Given the description of an element on the screen output the (x, y) to click on. 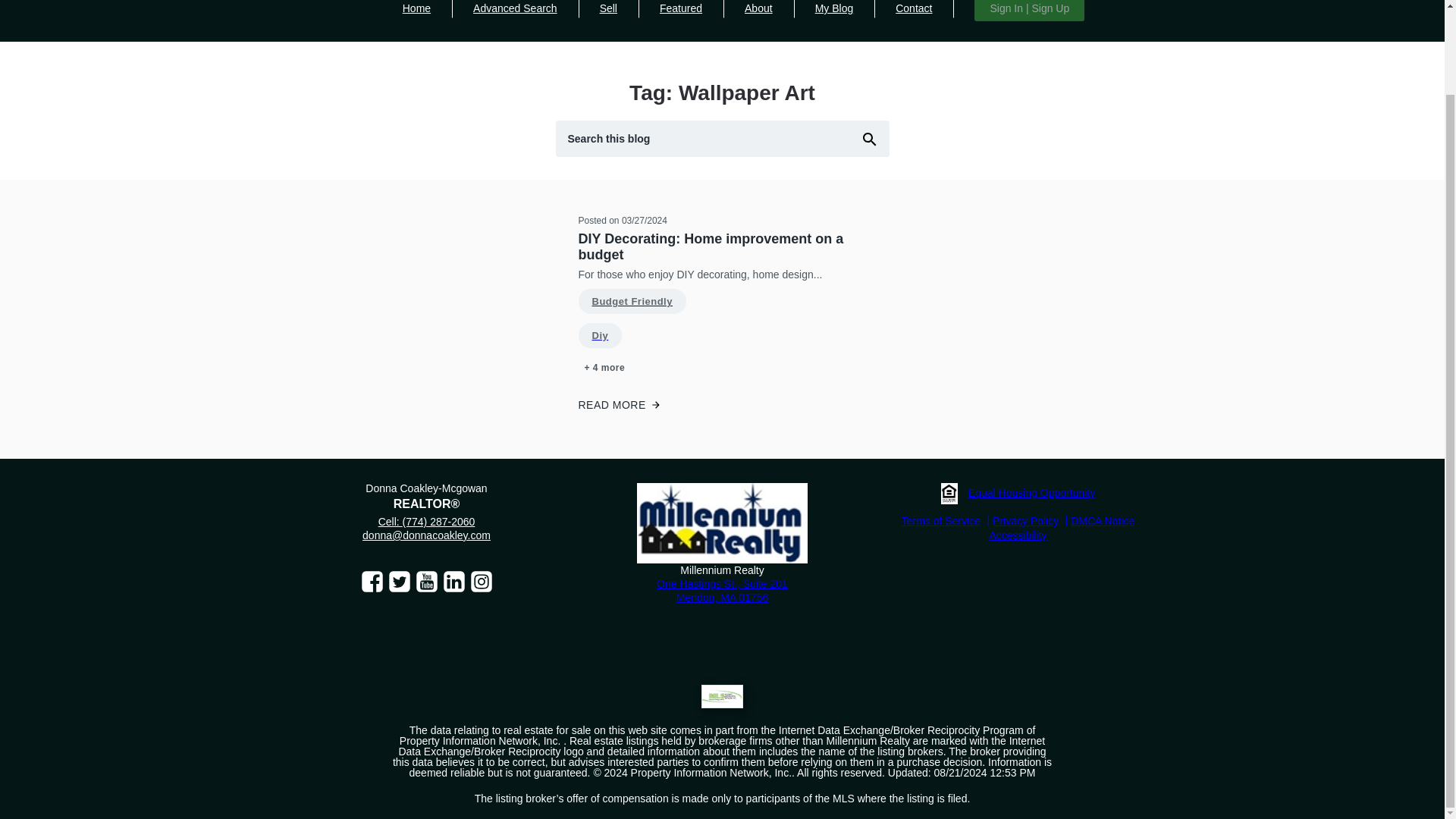
READ MORE (722, 404)
Millennium Realty (722, 523)
Sell (608, 17)
Terms of Service (946, 521)
My Blog (834, 17)
Mendon, MA 01756 (722, 597)
DMCA Notice (1102, 521)
Contact (914, 17)
DIY Decorating: Home improvement on a budget (722, 246)
About (758, 17)
